Given the description of an element on the screen output the (x, y) to click on. 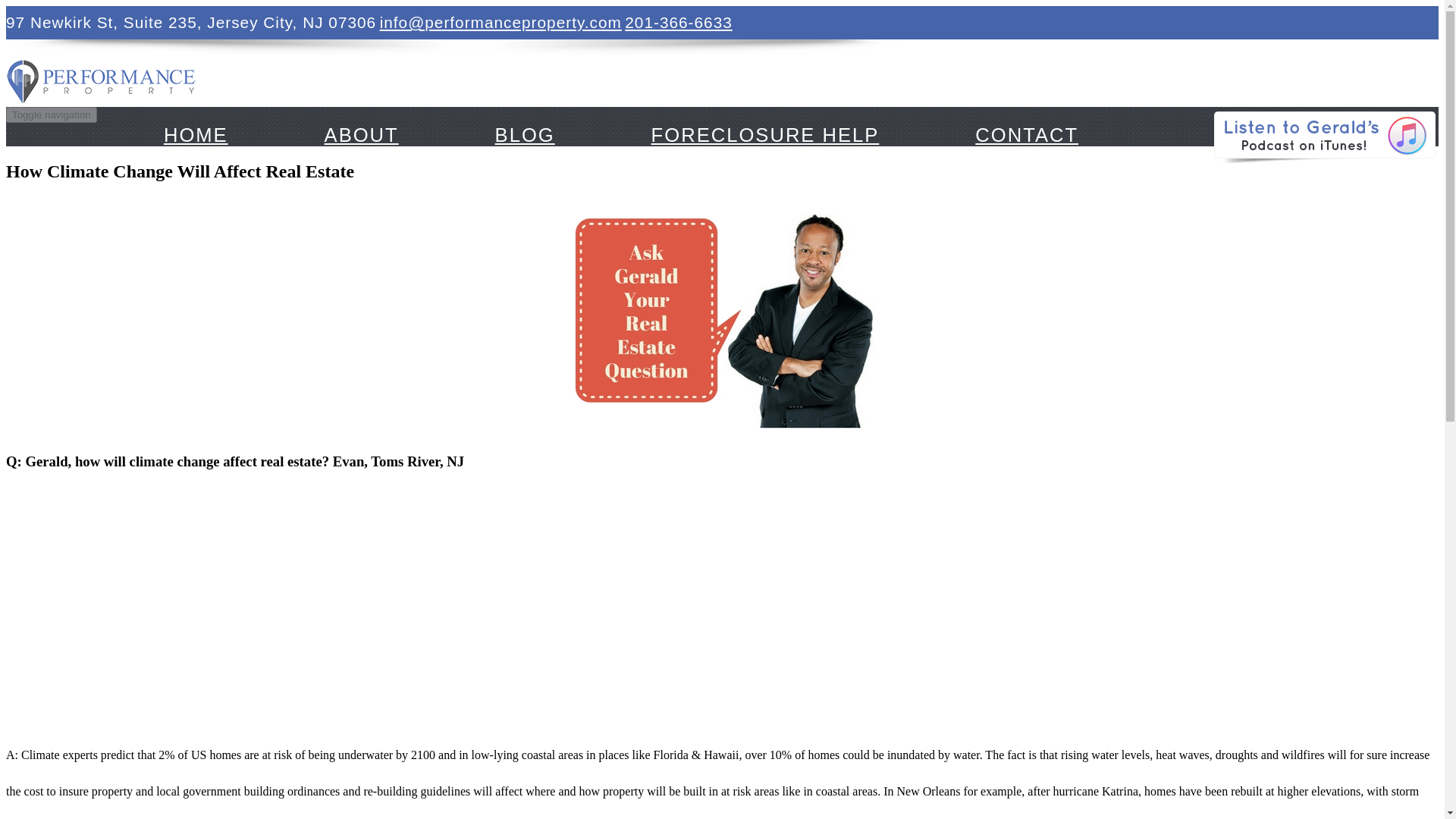
ABOUT (361, 135)
FORECLOSURE HELP (765, 135)
201-366-6633 (678, 22)
HOME (195, 135)
BLOG (524, 135)
Toggle navigation (51, 114)
CONTACT (1026, 135)
